Given the description of an element on the screen output the (x, y) to click on. 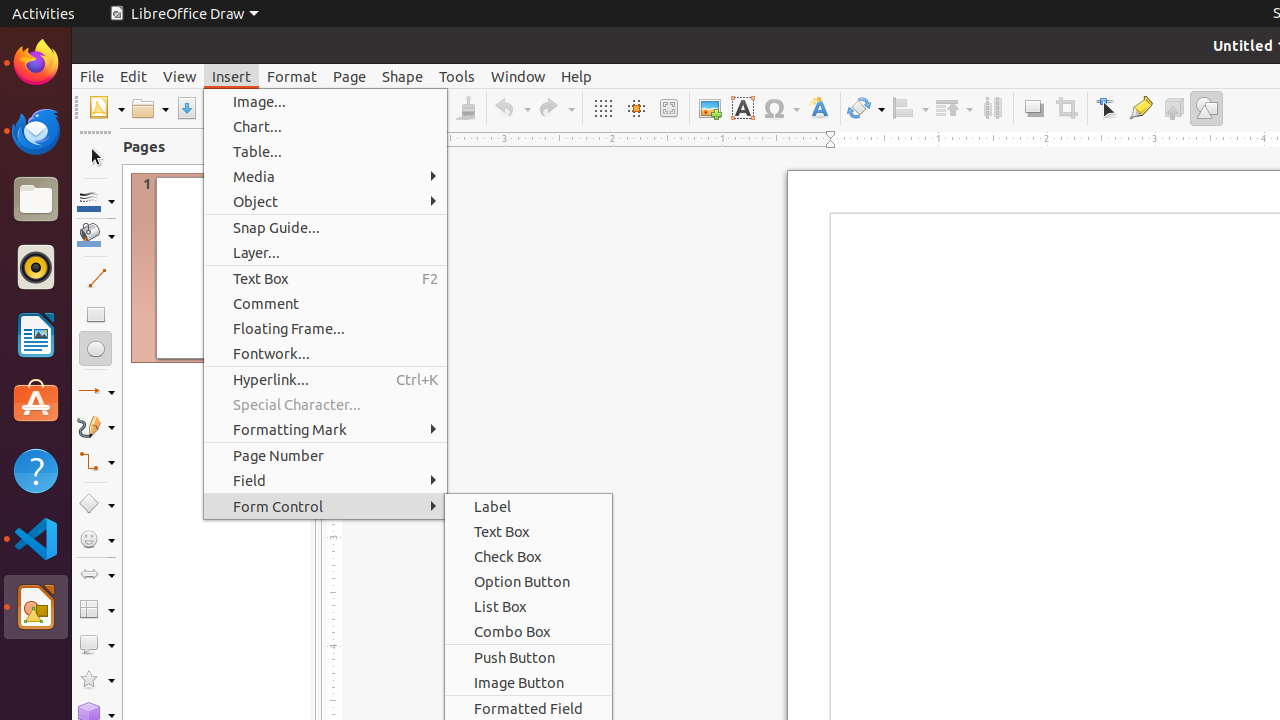
Chart... Element type: menu-item (325, 126)
Crop Element type: push-button (1066, 108)
Object Element type: menu (325, 201)
Select Element type: push-button (95, 157)
Check Box Element type: check-menu-item (528, 556)
